Given the description of an element on the screen output the (x, y) to click on. 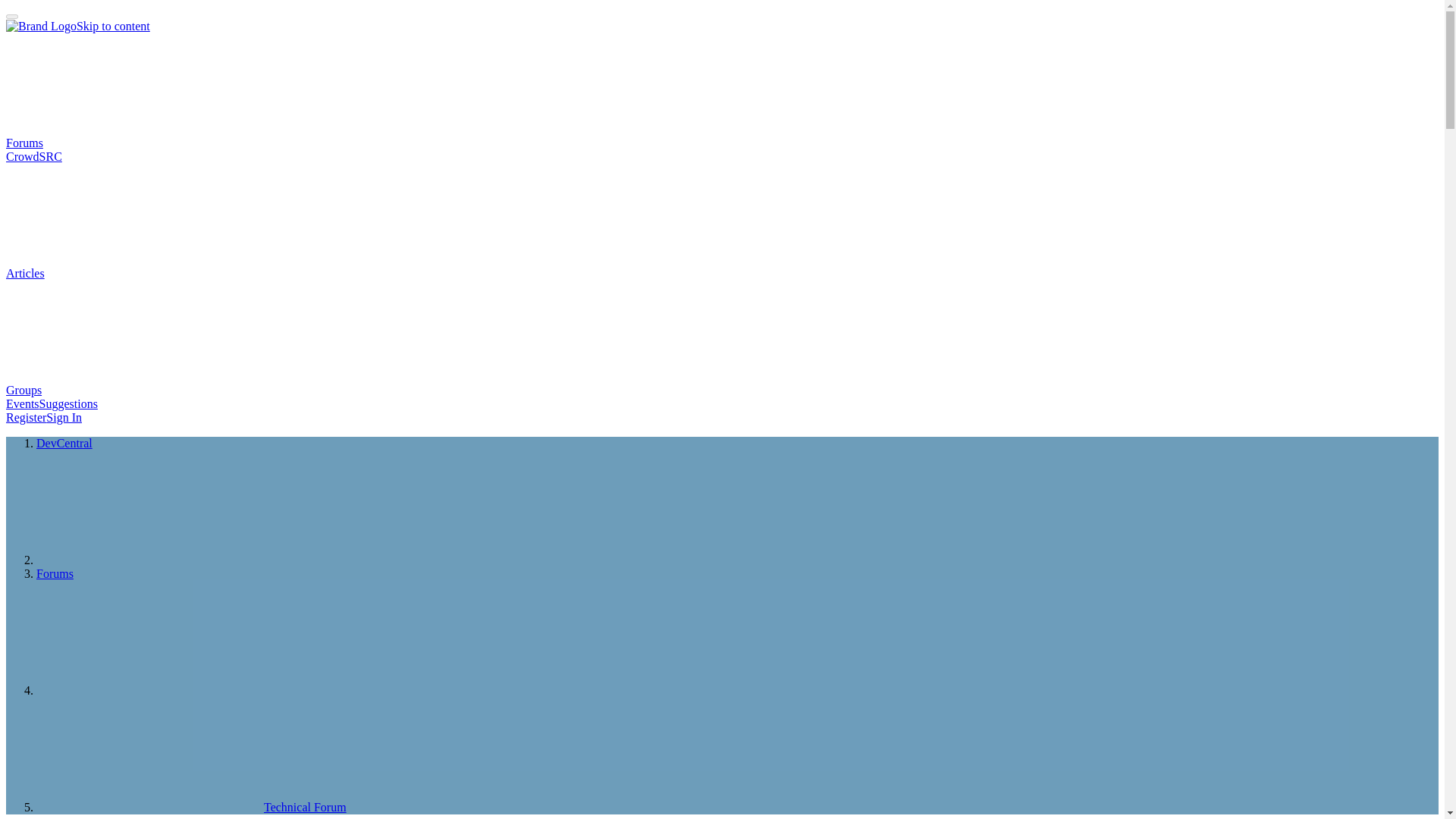
Register (25, 417)
Technical Forum (191, 807)
Sign In (63, 417)
Events (22, 403)
CrowdSRC (33, 155)
DevCentral (64, 442)
Groups (137, 390)
Skip to content (113, 25)
Forums (55, 573)
Forums (137, 142)
Suggestions (68, 403)
Articles (138, 273)
